Given the description of an element on the screen output the (x, y) to click on. 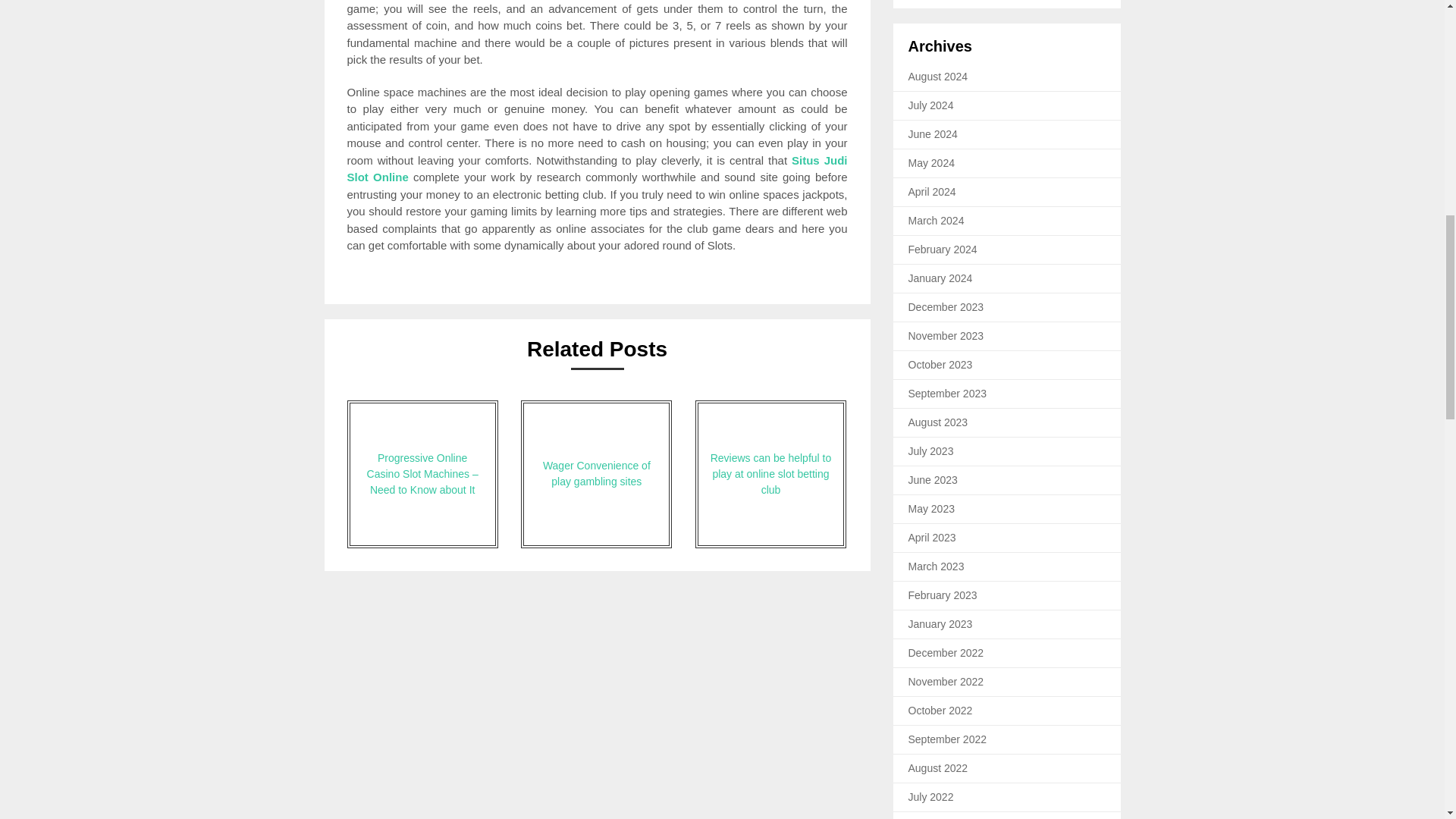
March 2024 (935, 220)
September 2023 (947, 393)
March 2023 (935, 566)
January 2024 (940, 277)
Reviews can be helpful to play at online slot betting club (770, 473)
February 2023 (942, 594)
July 2023 (930, 451)
December 2023 (946, 306)
January 2023 (940, 623)
May 2023 (931, 508)
